Given the description of an element on the screen output the (x, y) to click on. 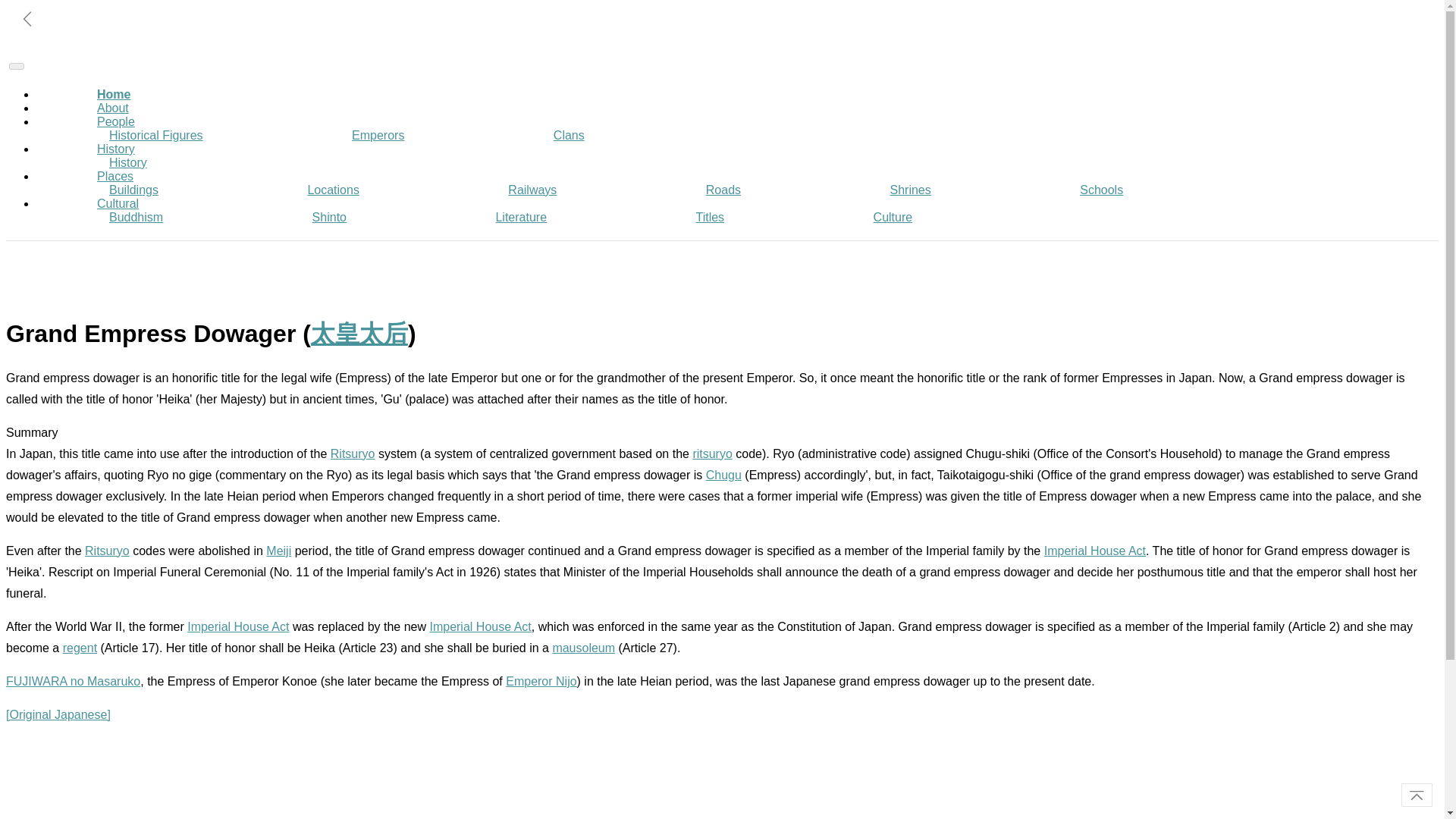
Clans (569, 134)
Shinto (329, 216)
Literature (521, 216)
Ritsuryo (106, 550)
Culture (892, 216)
regent (79, 647)
Buddhism (135, 216)
Imperial House Act (1094, 550)
Shrines (910, 189)
Home (114, 93)
About (113, 107)
People (115, 121)
History (115, 148)
Historical Figures (156, 134)
Railways (531, 189)
